Given the description of an element on the screen output the (x, y) to click on. 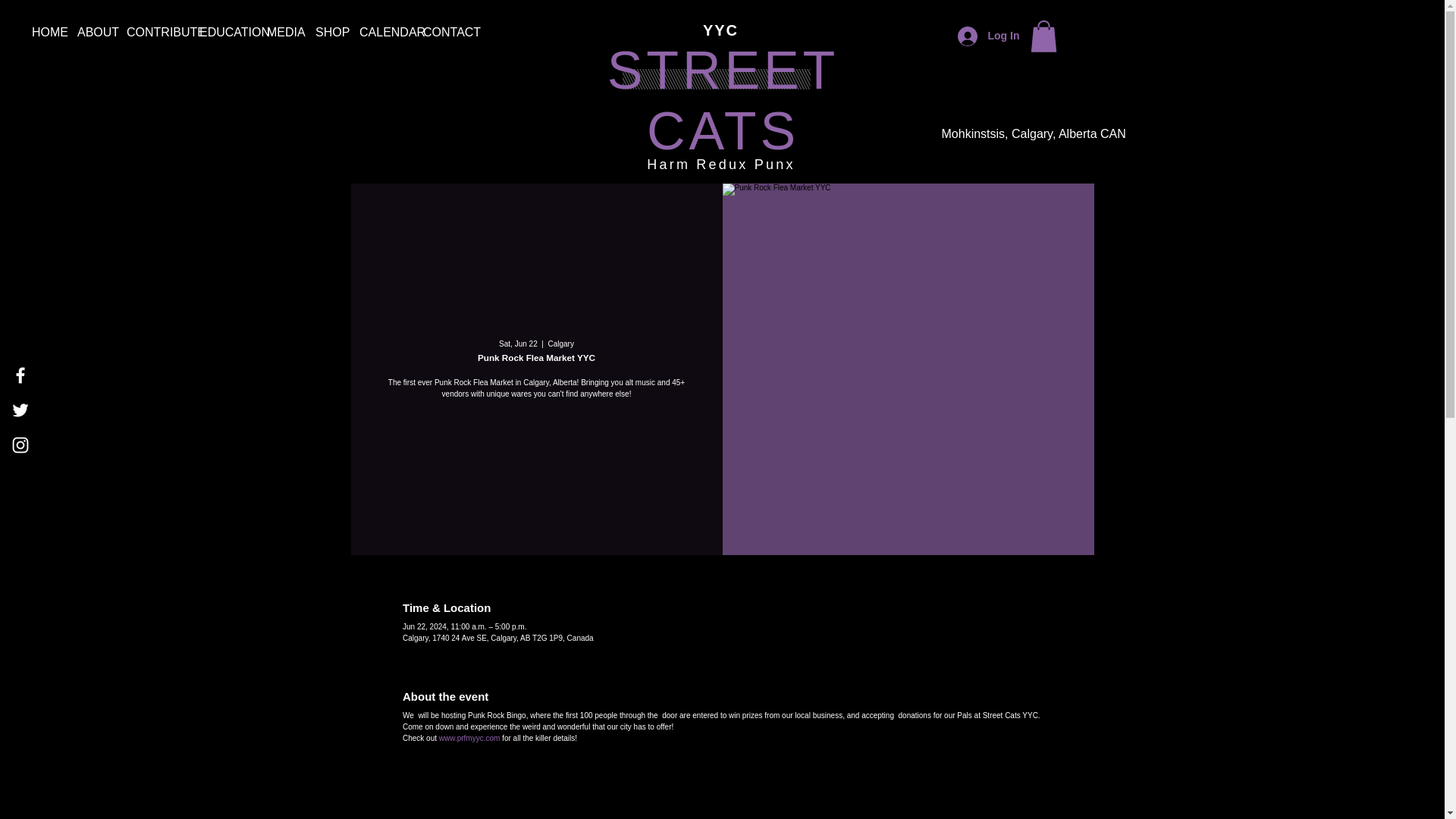
CONTACT (441, 32)
EDUCATION (221, 32)
HOME (42, 32)
YYC (720, 30)
www.prfmyyc.com (469, 737)
SHOP (325, 32)
Harm Redux Punx (720, 164)
Log In (987, 36)
MEDIA (280, 32)
ABOUT (90, 32)
